Given the description of an element on the screen output the (x, y) to click on. 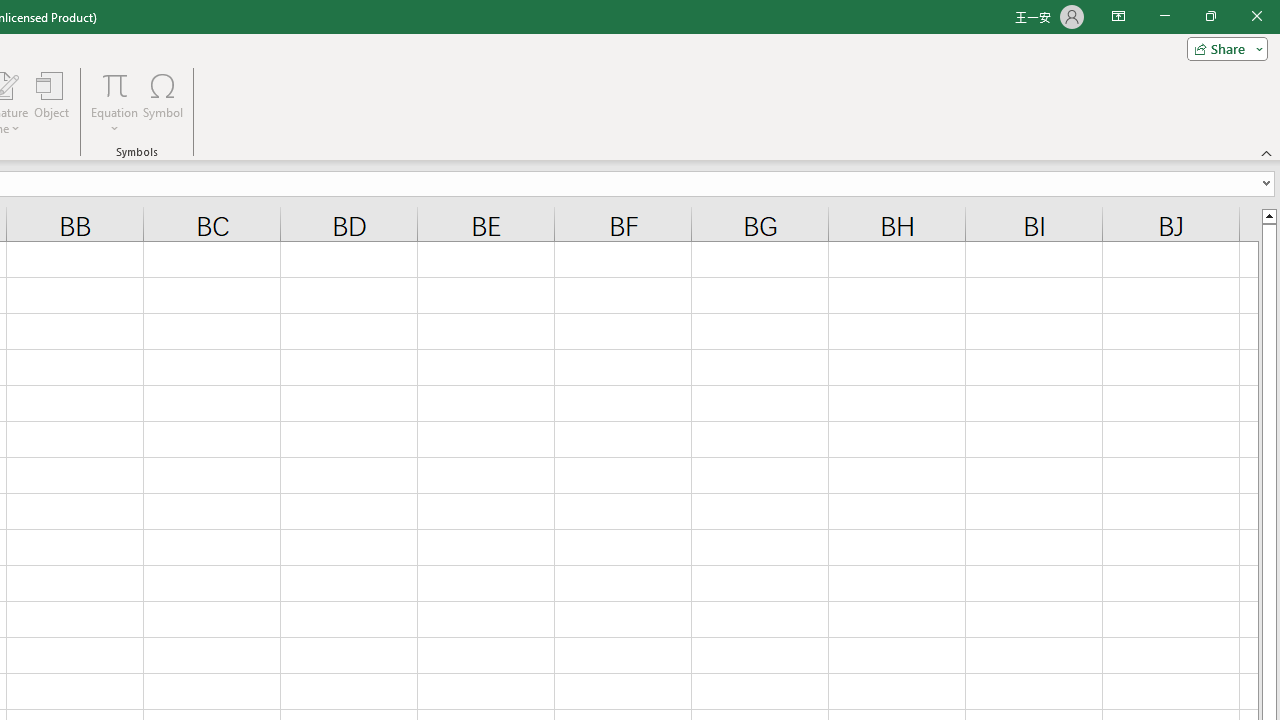
Restore Down (1210, 16)
Object... (51, 102)
Symbol... (162, 102)
Equation (114, 102)
Equation (114, 84)
